Given the description of an element on the screen output the (x, y) to click on. 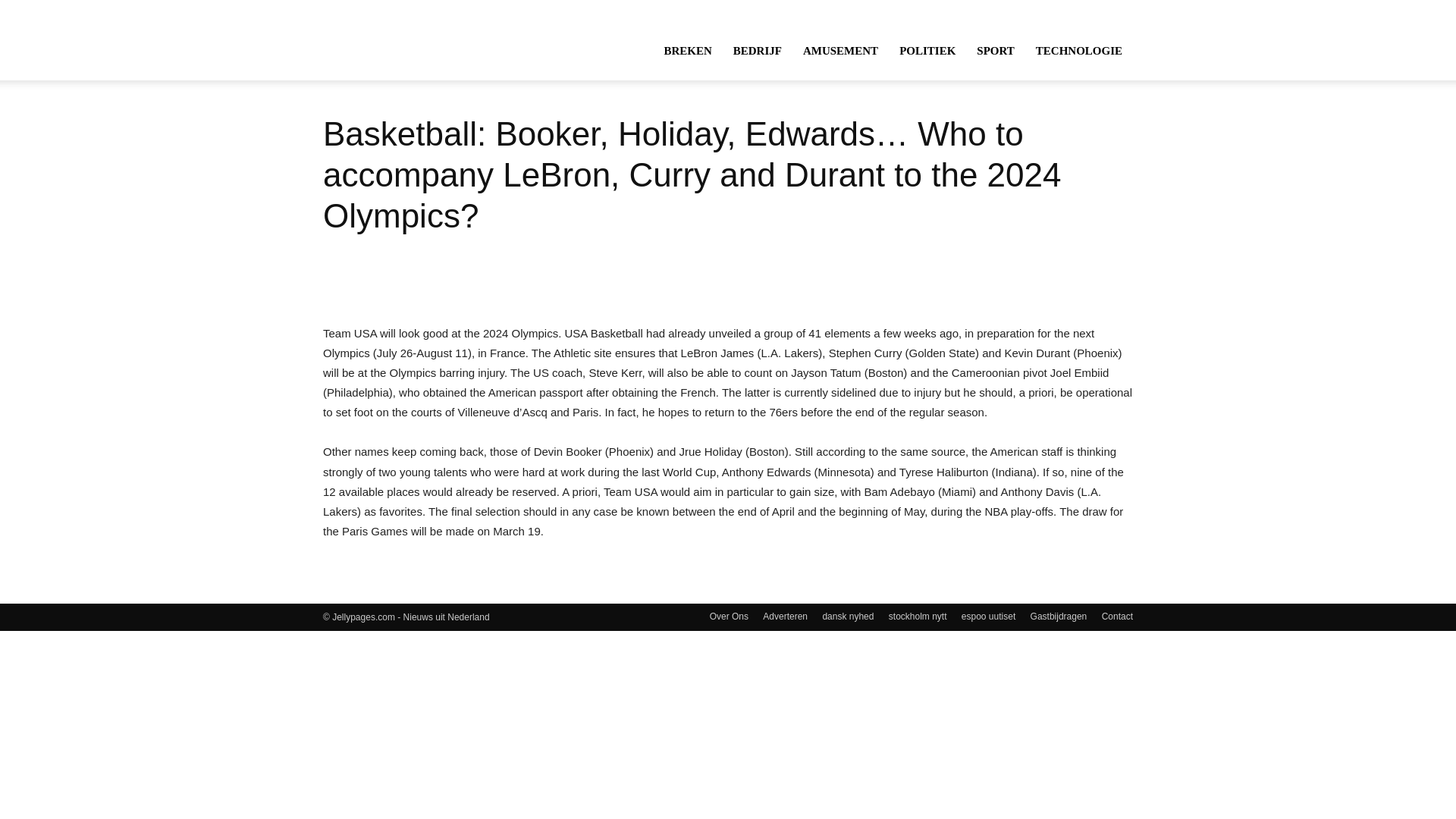
espoo uutiset (987, 616)
POLITIEK (927, 50)
SPORT (995, 50)
Gastbijdragen (1058, 616)
stockholm nytt (917, 616)
Adverteren (785, 616)
dansk nyhed (847, 616)
TECHNOLOGIE (1078, 50)
BREKEN (687, 50)
Contact (1117, 616)
